Given the description of an element on the screen output the (x, y) to click on. 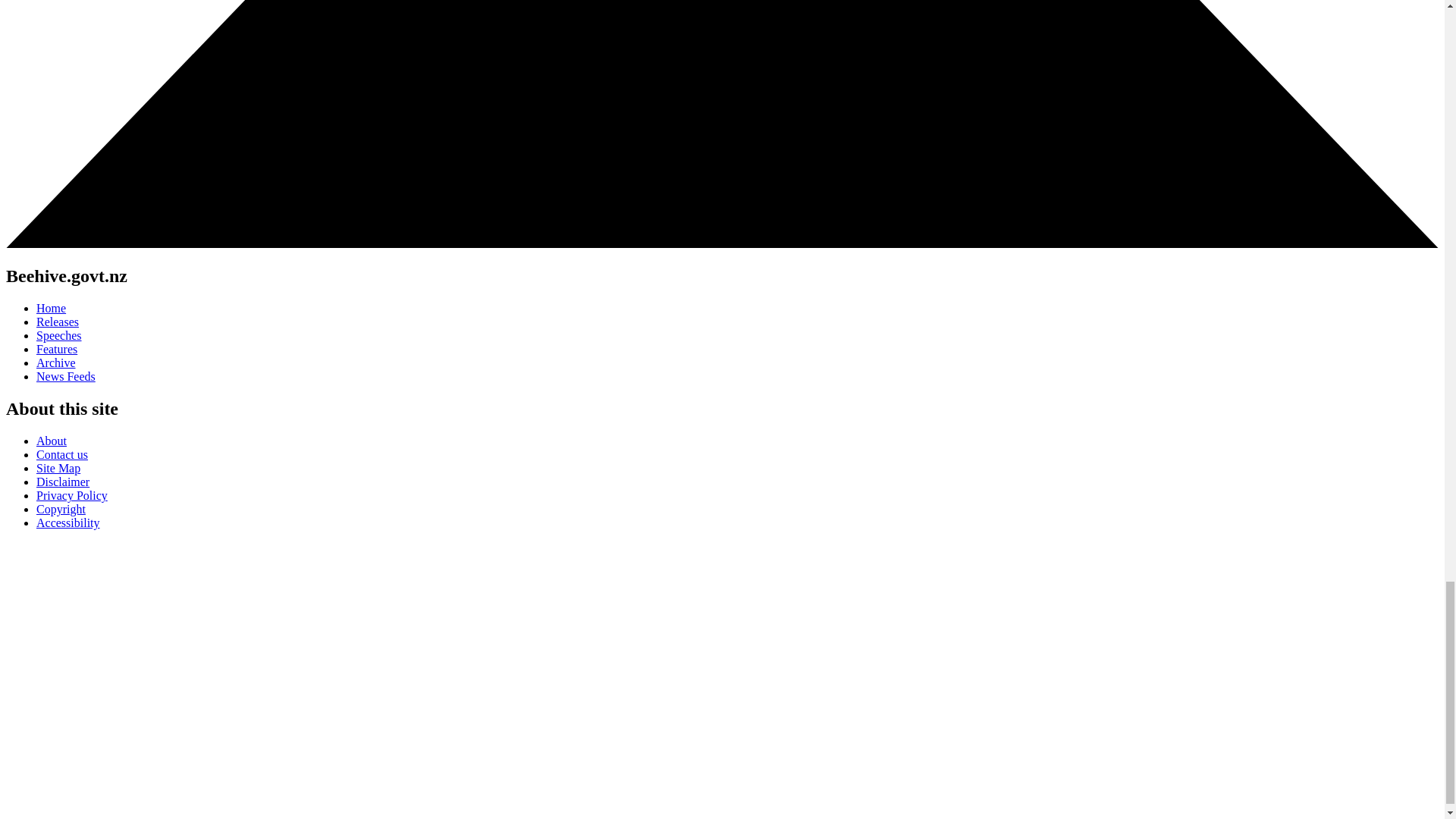
News Feeds (66, 376)
Features (56, 349)
About (51, 440)
Speeches (58, 335)
Home (50, 308)
Contact us (61, 454)
Disclaimer (62, 481)
Archive (55, 362)
Privacy Policy (71, 495)
Releases (57, 321)
Site Map (58, 468)
